Given the description of an element on the screen output the (x, y) to click on. 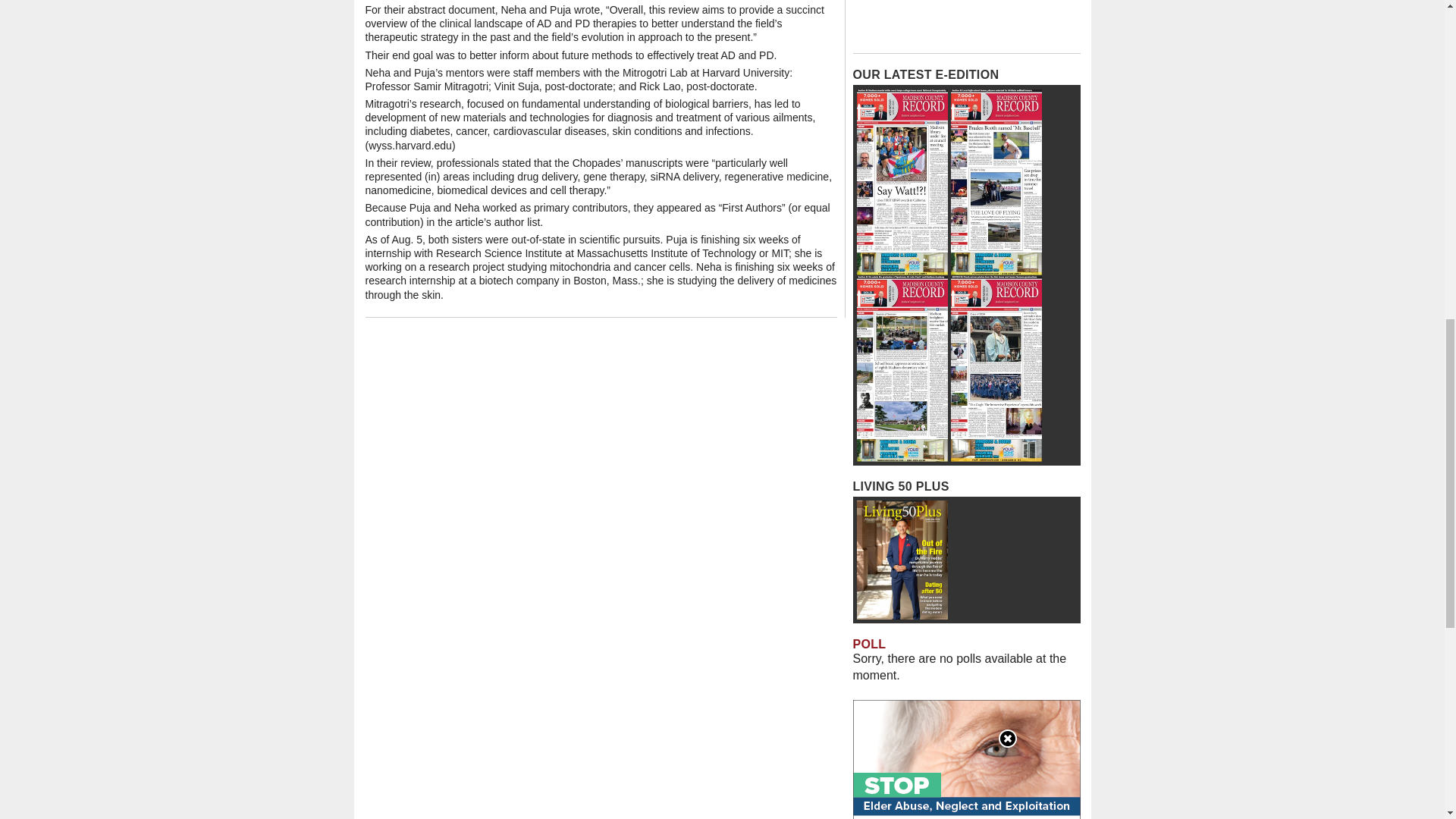
3rd party ad content (965, 22)
OUR LATEST E-EDITION (924, 74)
